Given the description of an element on the screen output the (x, y) to click on. 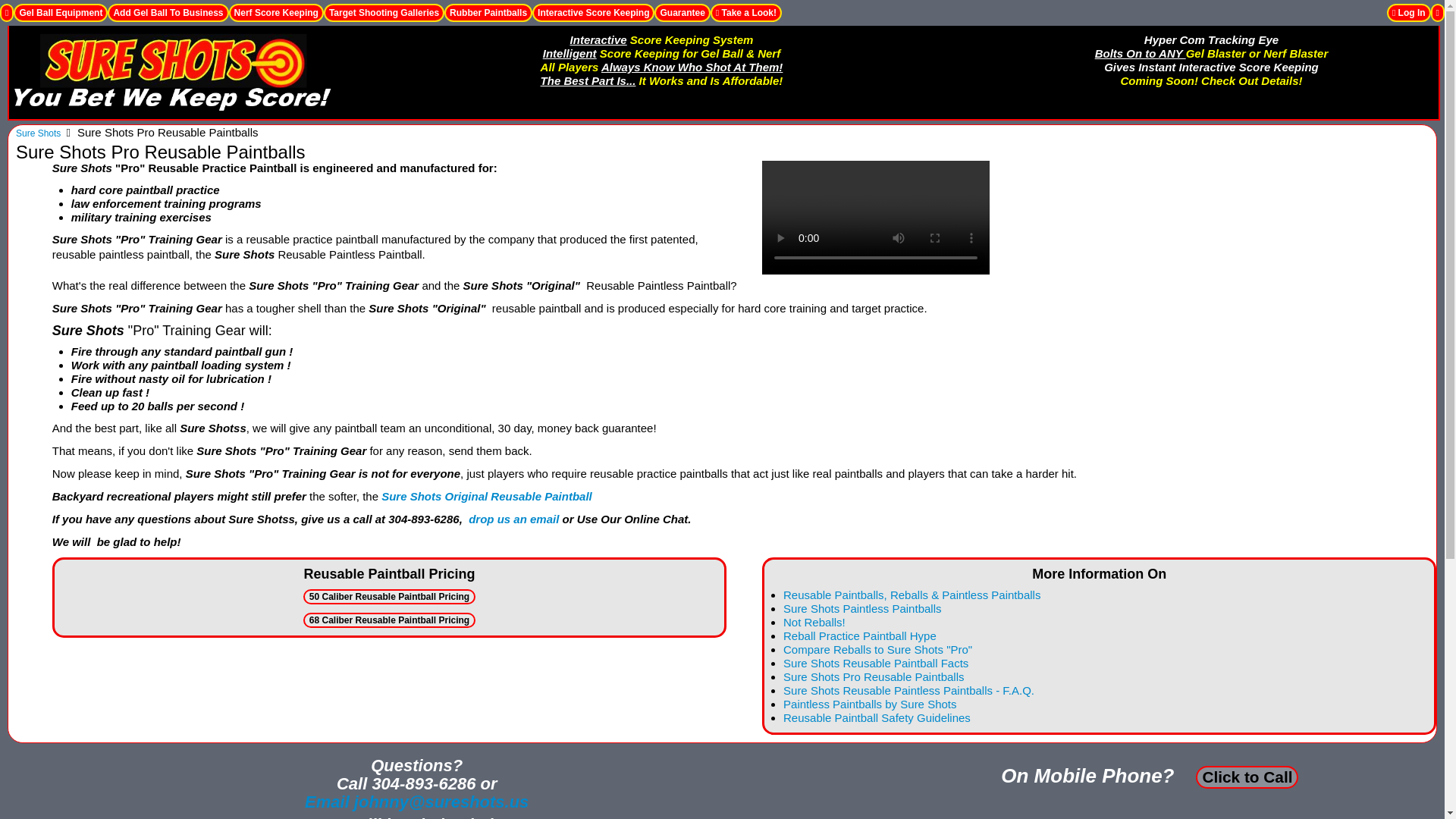
Interactive Score Keeping System (662, 40)
Hyper Com Tracking Eye (1211, 39)
The Best Part Is... It Works and Is Affordable! (661, 81)
Guarantee (681, 13)
Nerf Score Keeping (275, 13)
Sure Shots Original Reusable Paintball (486, 495)
Rubber Paintballs (488, 13)
50 Caliber Reusable Paintball Pricing (389, 596)
Click to Call (1246, 776)
All Players Always Know Who Shot At Them! (661, 68)
Add Gel Ball To Business (167, 13)
Contact Sure Shots (416, 801)
logo (172, 72)
68 Caliber Reusable Paintball Pricing (389, 620)
Gel Ball Equipment (60, 13)
